Given the description of an element on the screen output the (x, y) to click on. 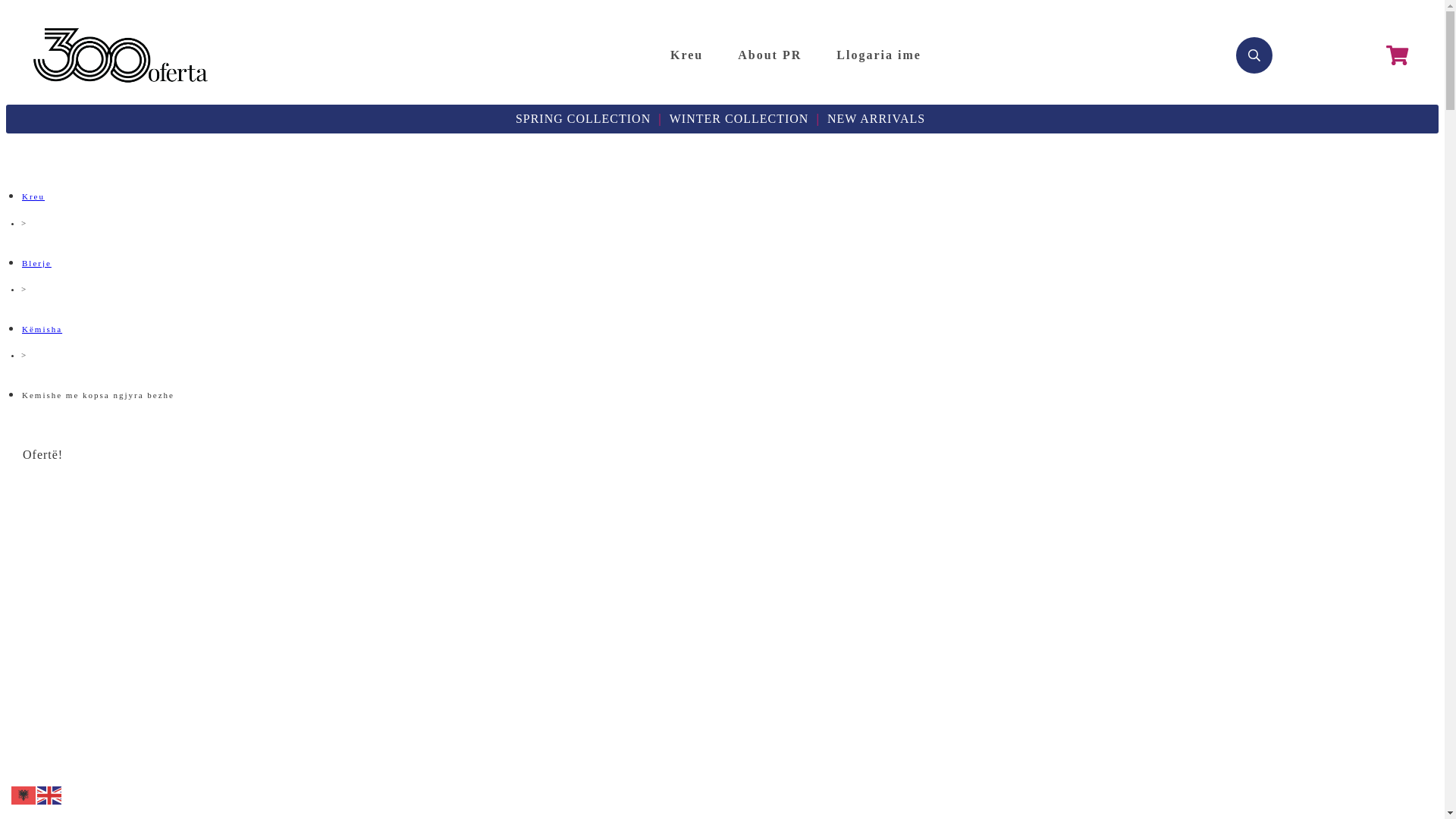
WINTER COLLECTION Element type: text (739, 118)
Llogaria ime Element type: text (878, 55)
Kreu Element type: text (32, 195)
SPRING COLLECTION Element type: text (582, 118)
Kreu Element type: text (686, 55)
About PR Element type: text (769, 55)
NEW ARRIVALS Element type: text (876, 118)
Shqip Element type: hover (24, 793)
Blerje Element type: text (36, 262)
English Element type: hover (49, 793)
